Given the description of an element on the screen output the (x, y) to click on. 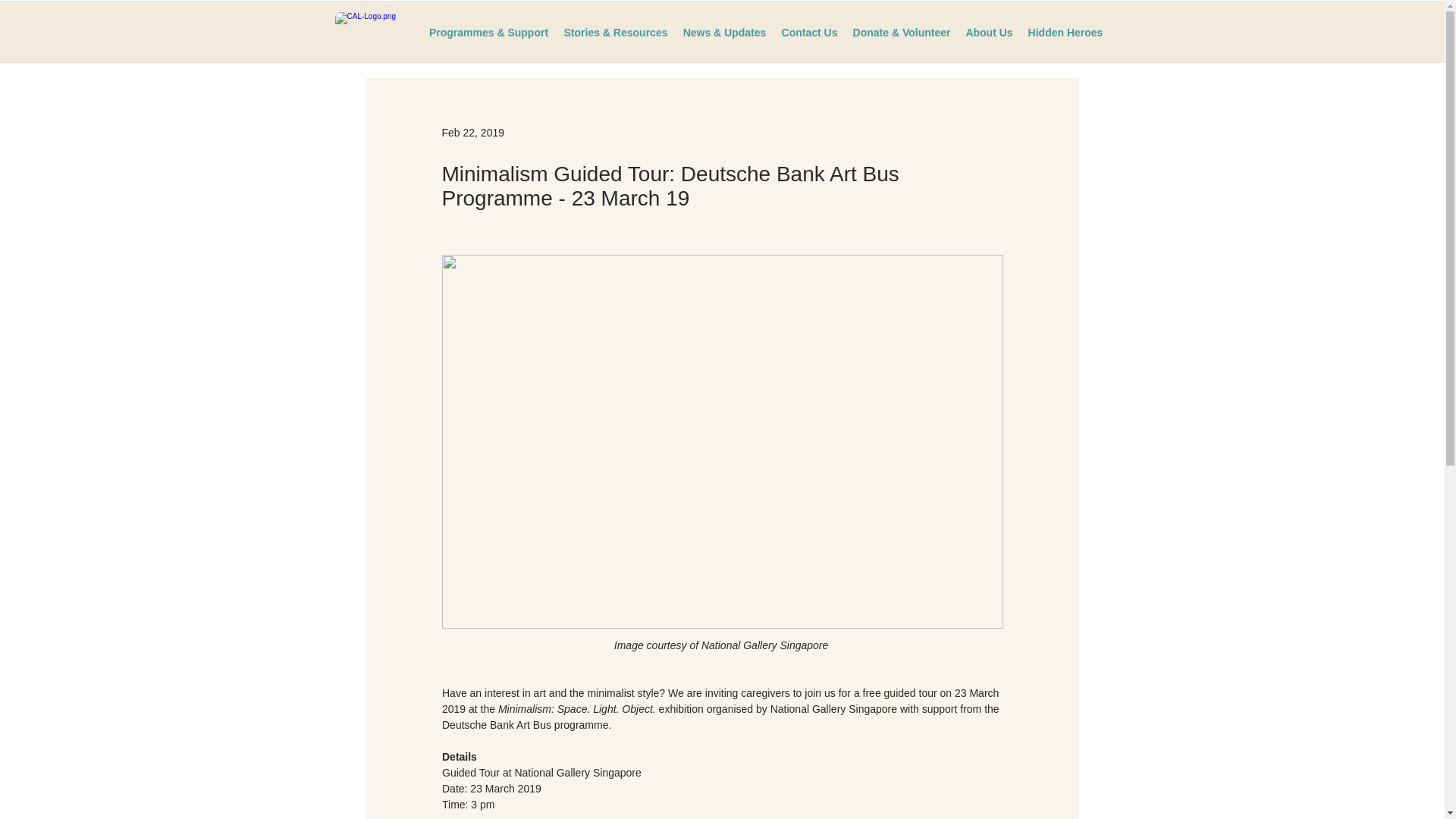
Home (373, 30)
Feb 22, 2019 (472, 132)
About Us (989, 32)
Contact Us (808, 32)
Hidden Heroes (1065, 32)
